Given the description of an element on the screen output the (x, y) to click on. 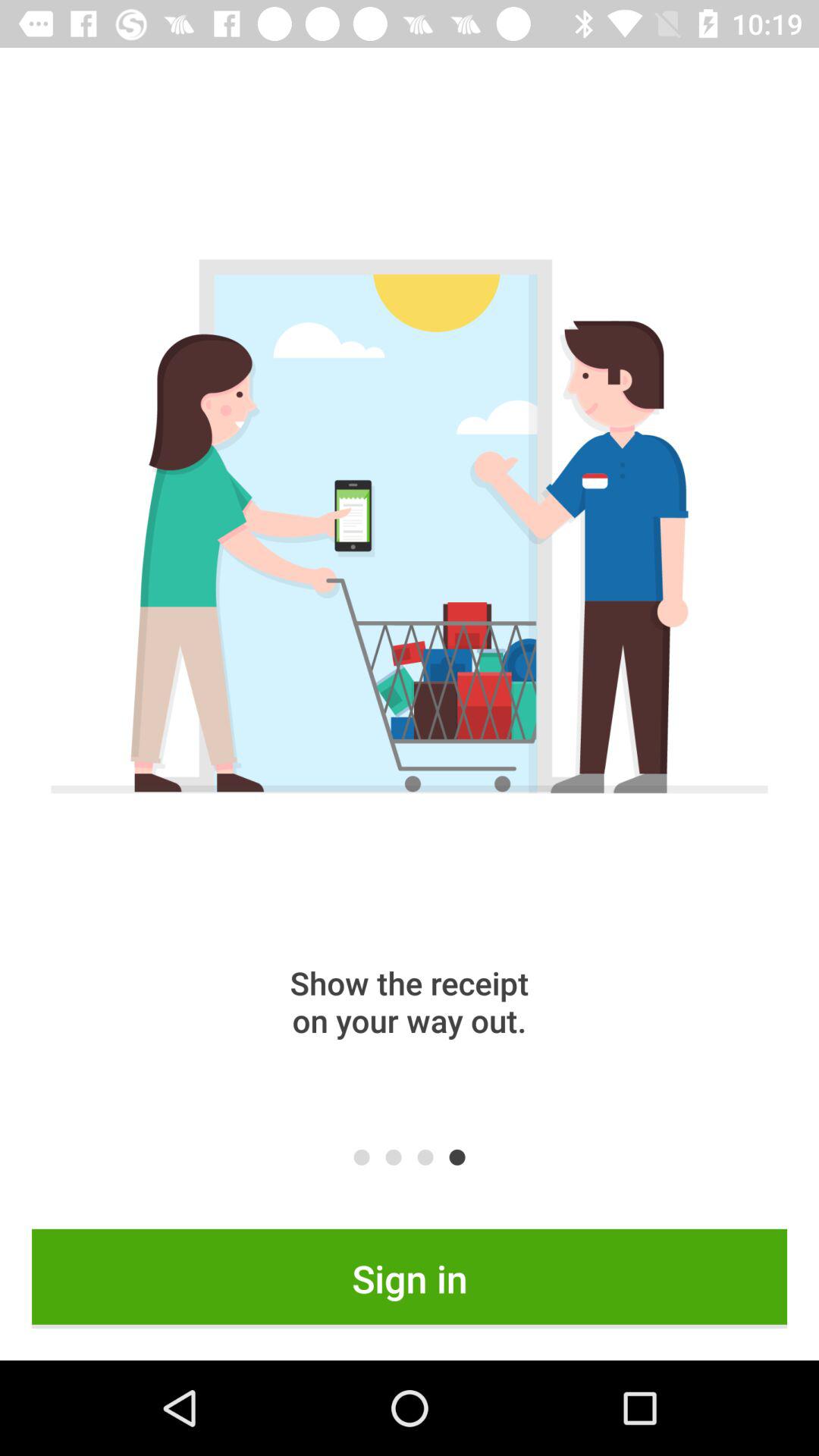
turn off the sign in (409, 1278)
